Given the description of an element on the screen output the (x, y) to click on. 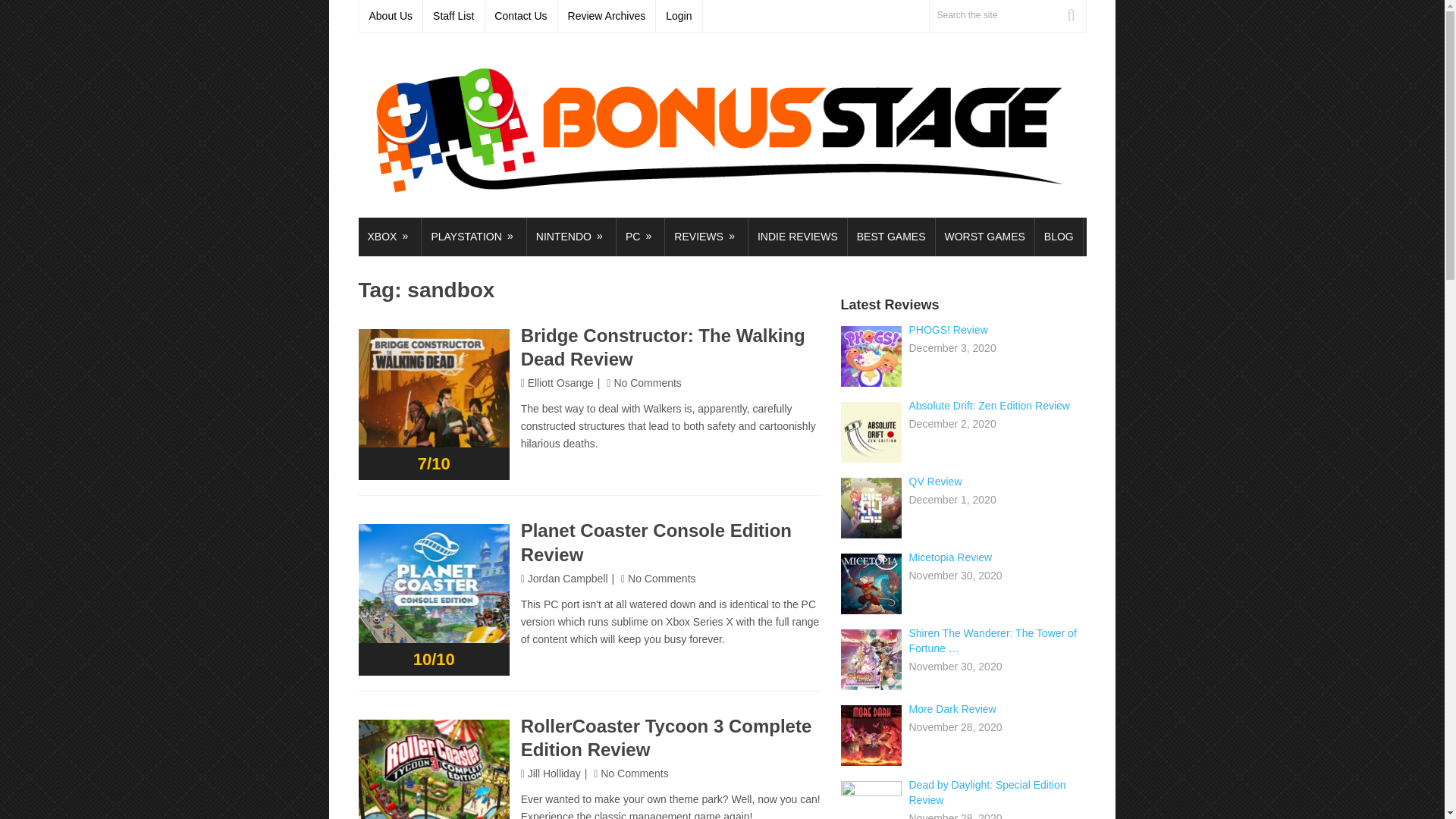
Staff List (453, 15)
Contact Us (520, 15)
REVIEWS (706, 236)
PLAYSTATION (473, 236)
NINTENDO (571, 236)
PC (639, 236)
About Us (391, 15)
Login (678, 15)
Review Archives (606, 15)
XBOX (389, 236)
